Given the description of an element on the screen output the (x, y) to click on. 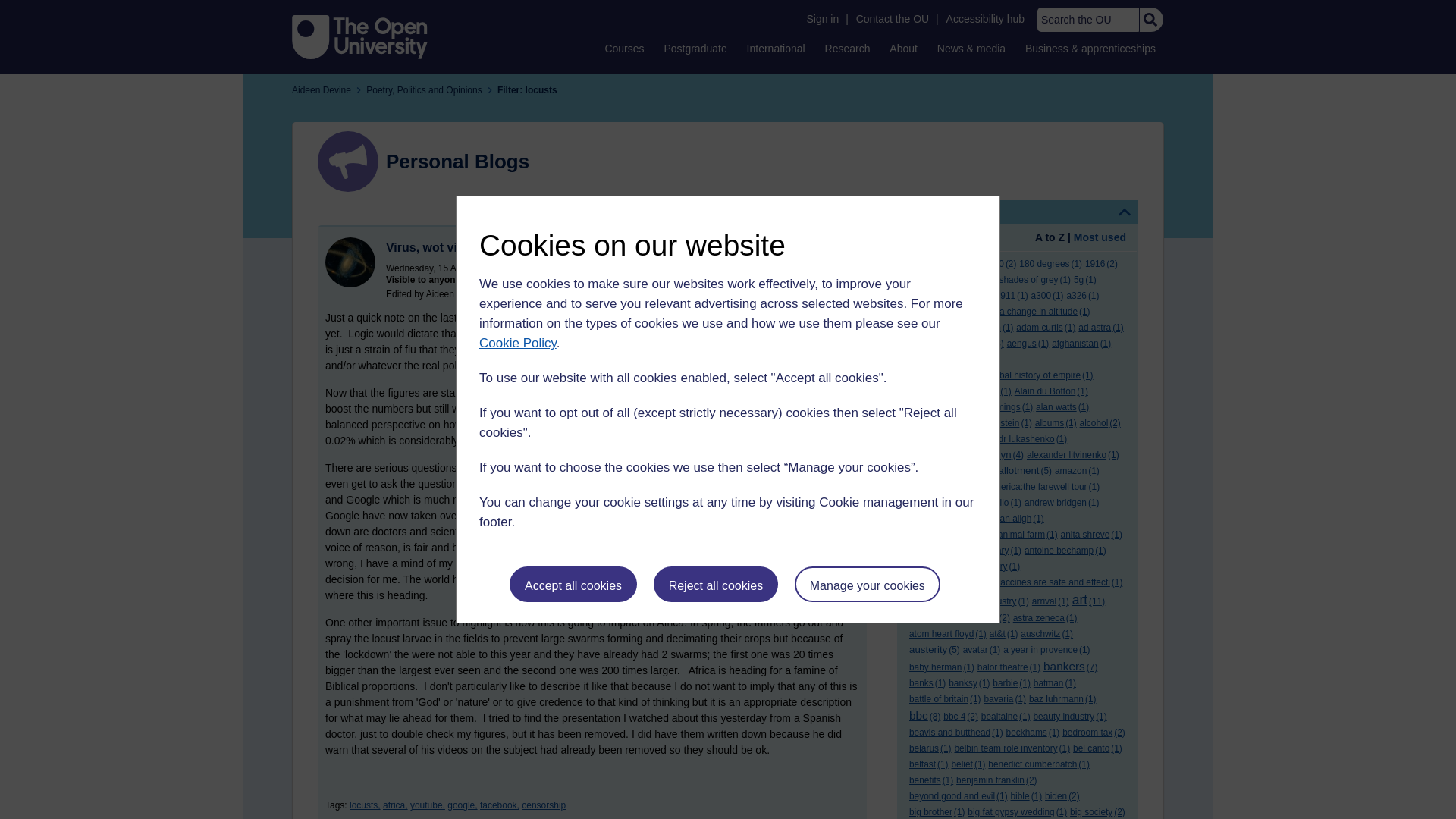
Weddin (349, 261)
Contact the OU (892, 19)
Reject all cookies (715, 583)
Sign in (822, 19)
Cookie Policy (517, 342)
Postgraduate (695, 48)
Accept all cookies (573, 583)
Search (1149, 19)
About (903, 48)
